Given the description of an element on the screen output the (x, y) to click on. 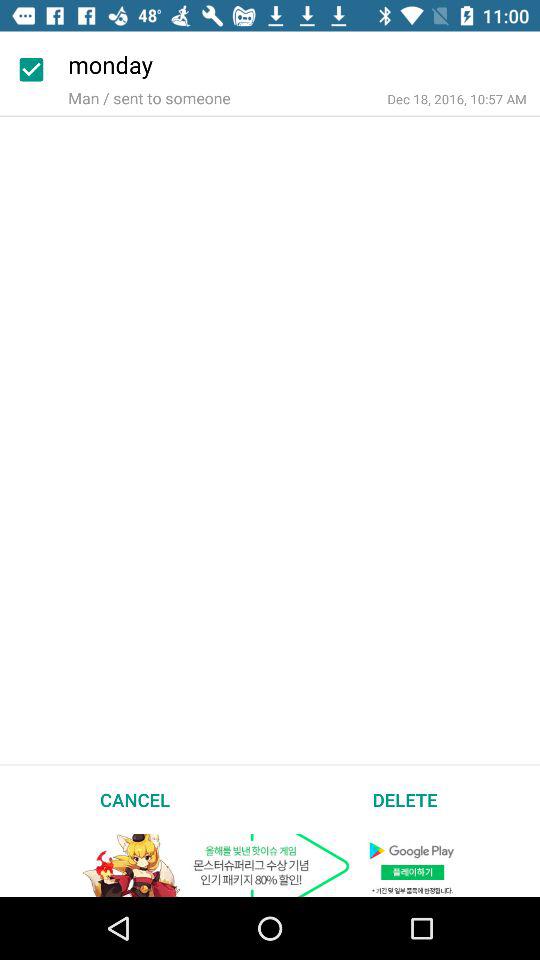
select the item at the top right corner (456, 98)
